Given the description of an element on the screen output the (x, y) to click on. 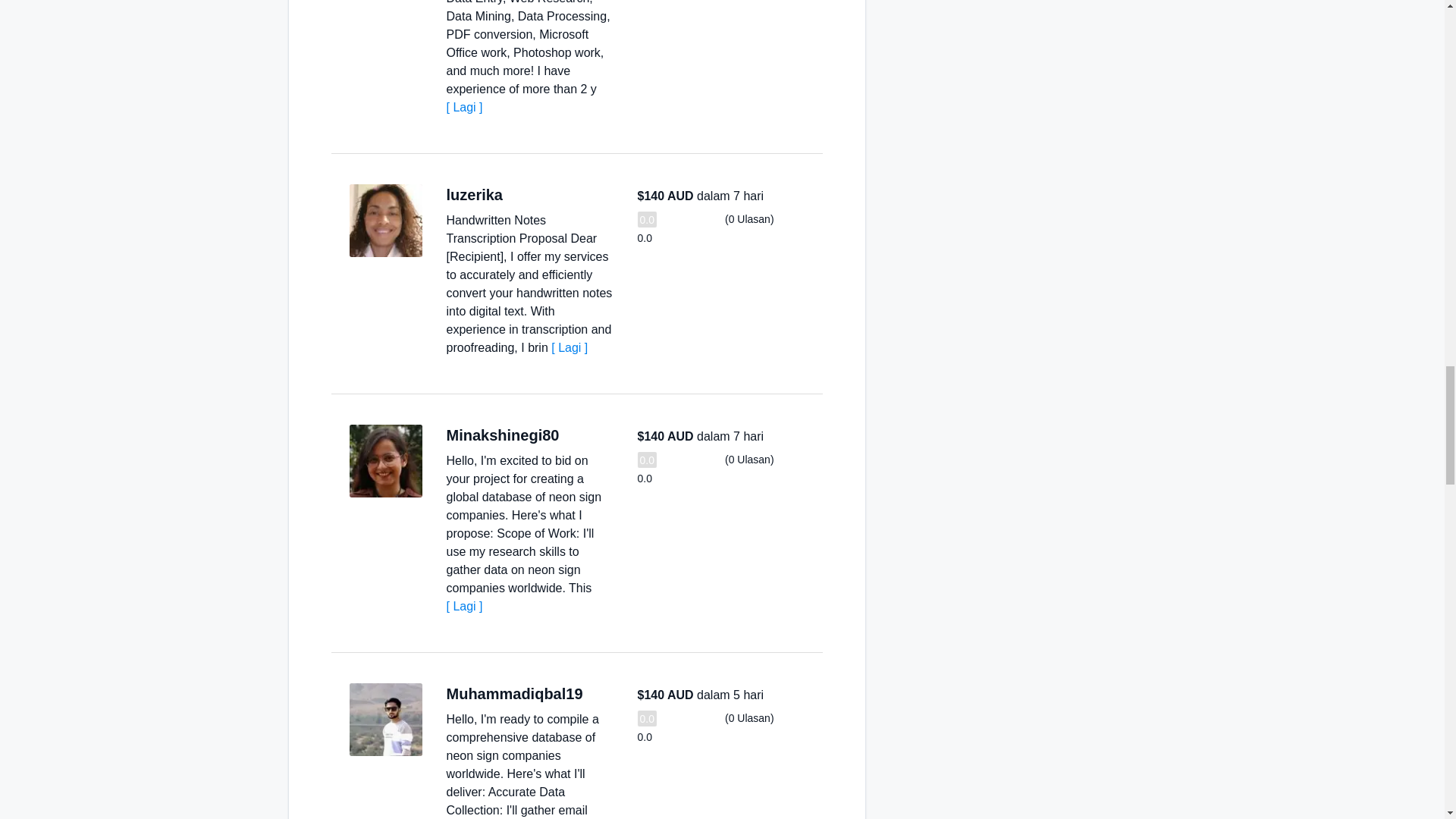
Lagi (463, 106)
Muhammadiqbal19 (513, 693)
Lagi (463, 605)
luzerika (473, 194)
Lihat Profil Minakshinegi80 (385, 461)
India (573, 435)
Lihat Profil Muhammadiqbal19 (385, 719)
Lihat Profil luzerika (385, 220)
Lagi (569, 347)
Minakshinegi80 (502, 434)
